Given the description of an element on the screen output the (x, y) to click on. 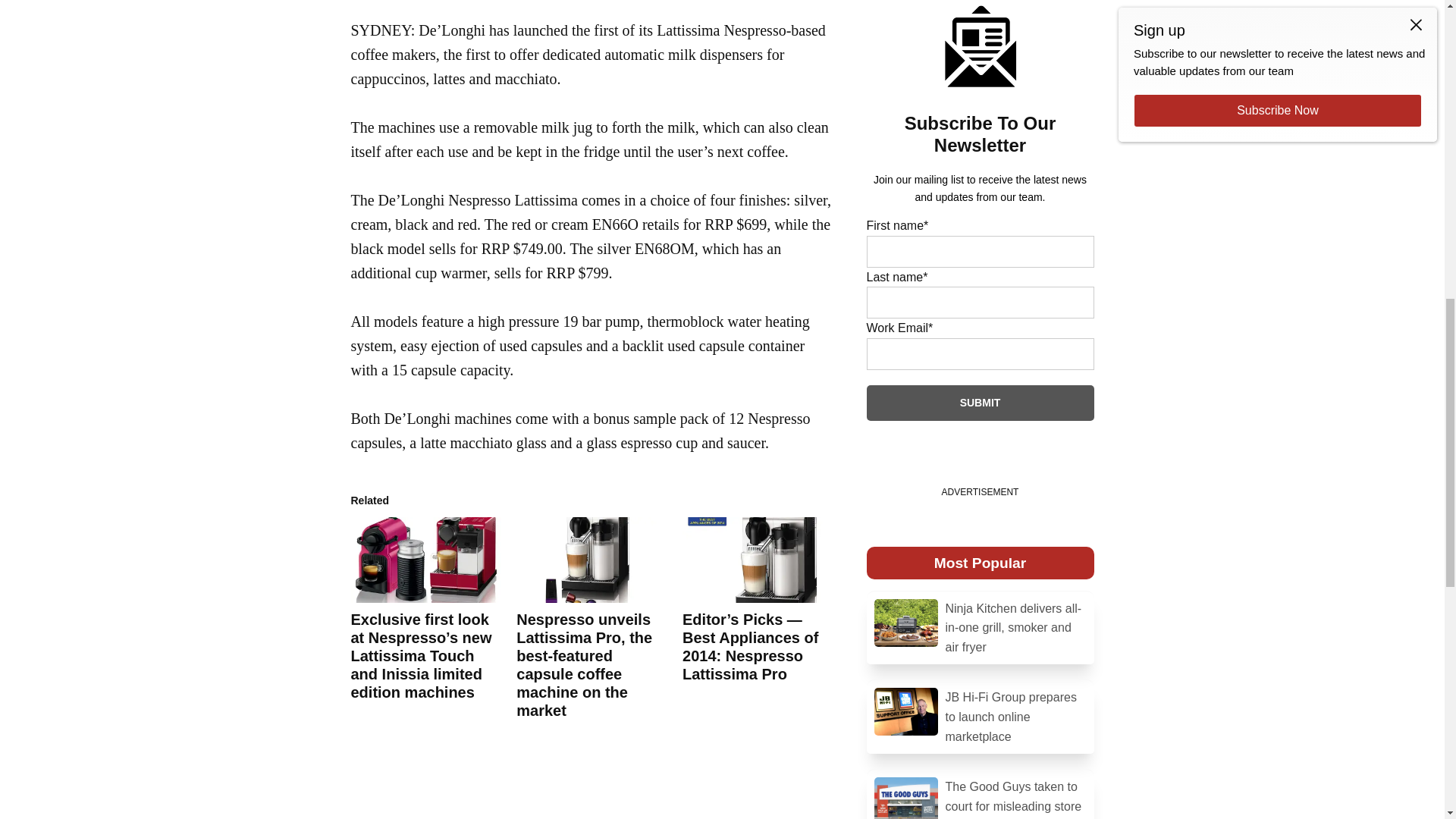
Submit (979, 402)
JB Hi-Fi Group prepares to launch online marketplace (979, 716)
3rd party ad content (722, 45)
